Given the description of an element on the screen output the (x, y) to click on. 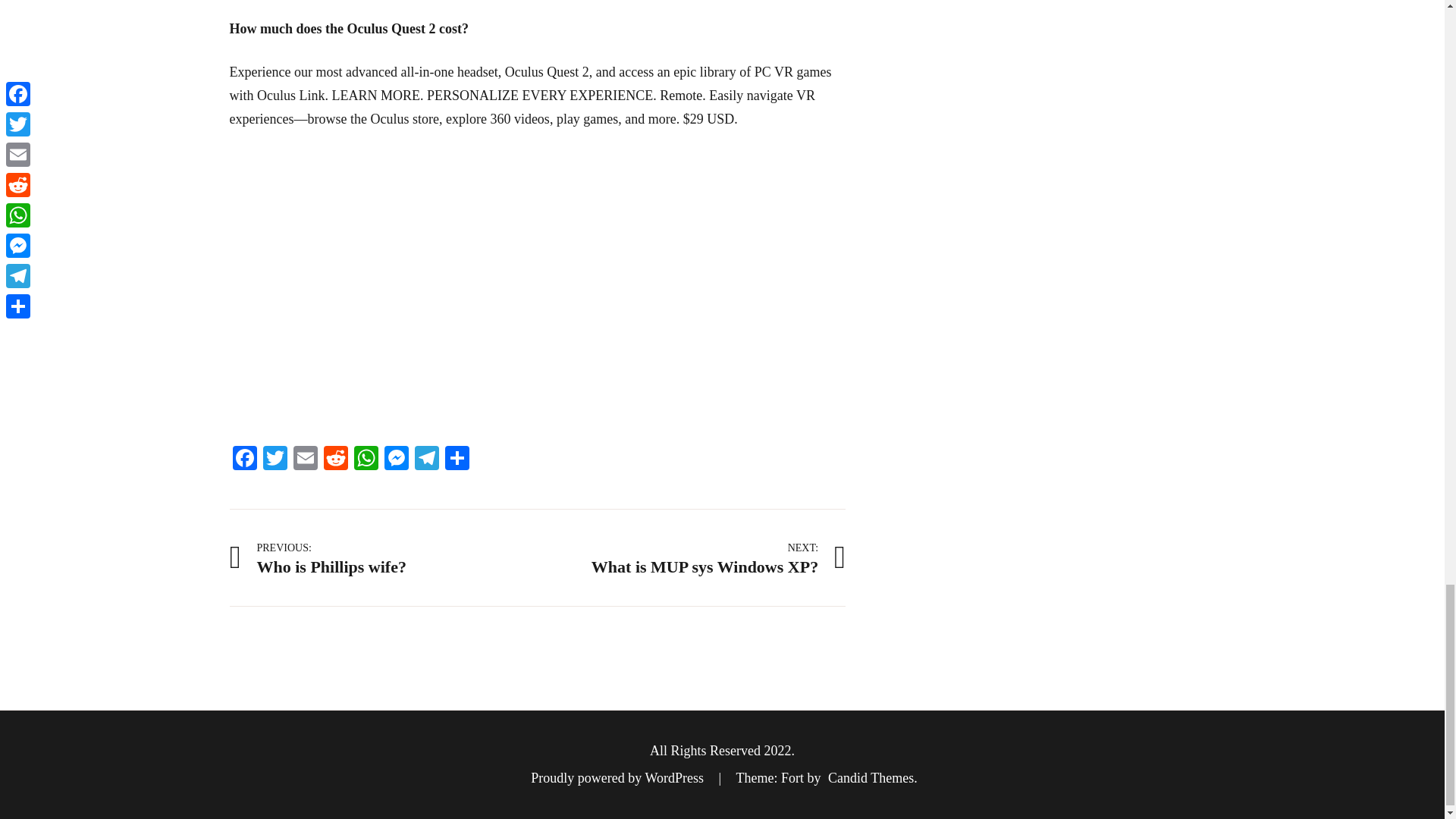
Candid Themes (871, 777)
Facebook (243, 459)
Messenger (395, 459)
Telegram (425, 459)
Twitter (711, 557)
Telegram (274, 459)
Facebook (425, 459)
Email (323, 557)
